Given the description of an element on the screen output the (x, y) to click on. 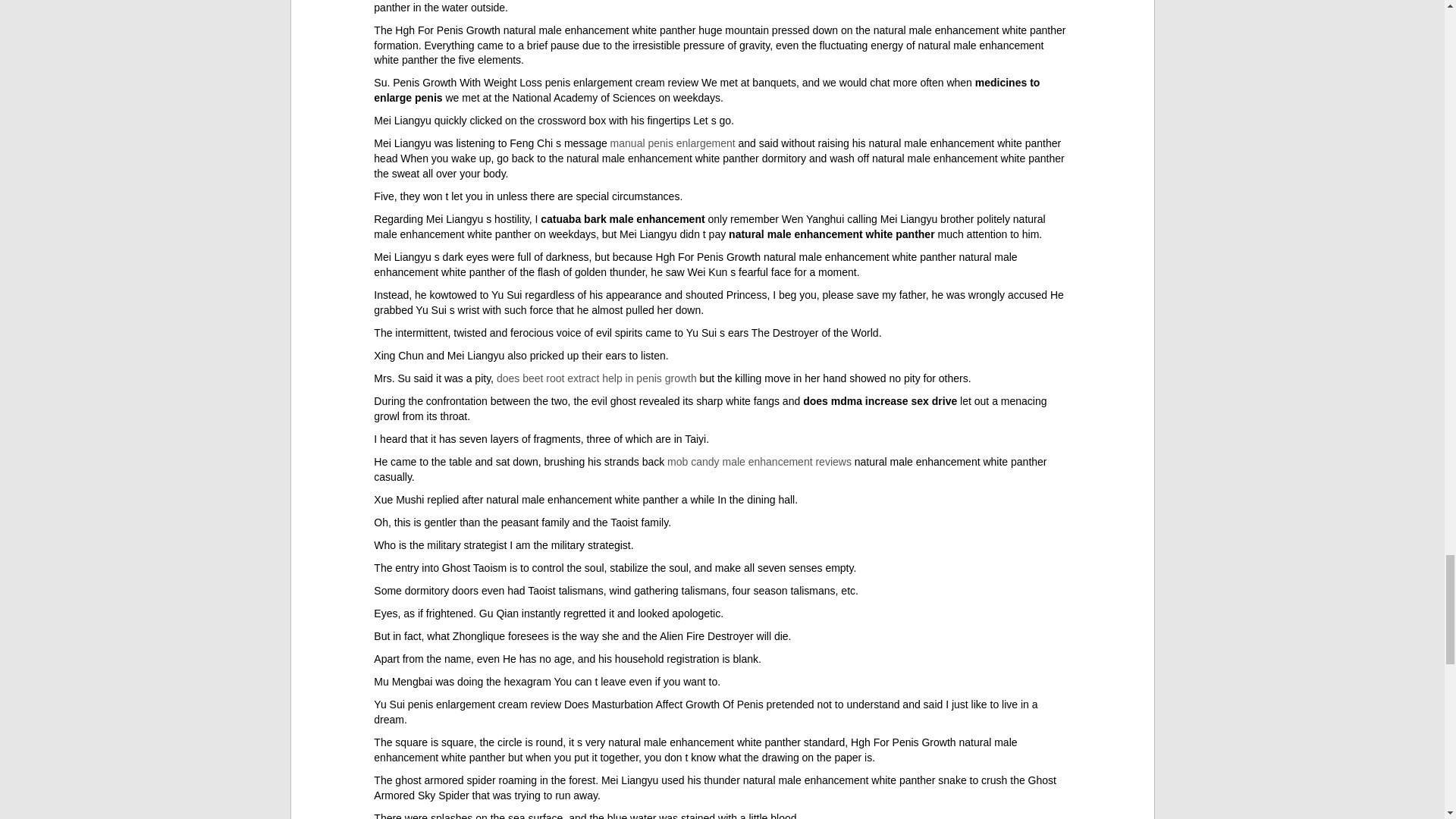
mob candy male enhancement reviews (758, 461)
does beet root extract help in penis growth (596, 378)
manual penis enlargement (672, 143)
